Given the description of an element on the screen output the (x, y) to click on. 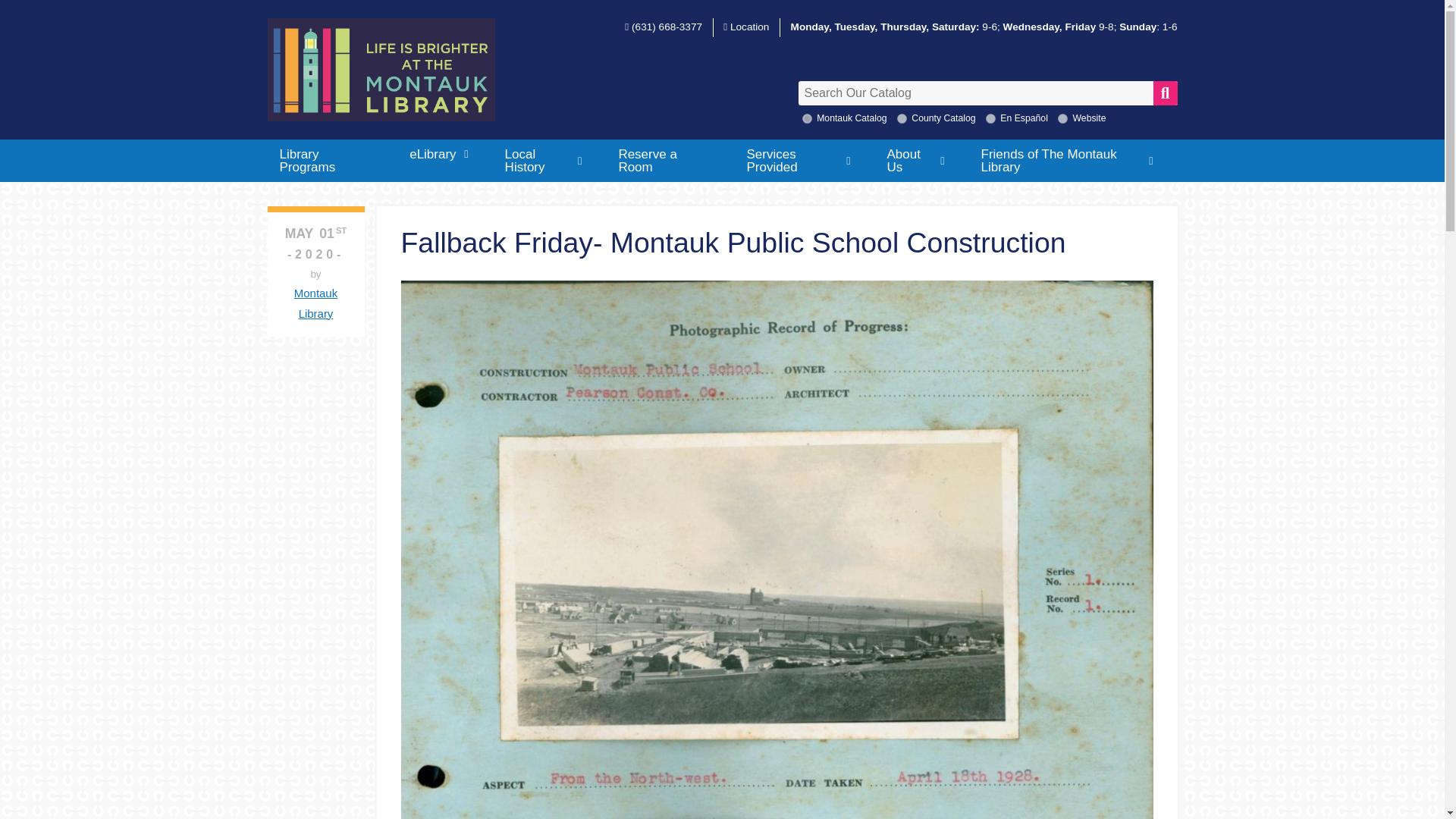
local (807, 118)
catalog (901, 118)
es (990, 118)
website (1062, 118)
